Given the description of an element on the screen output the (x, y) to click on. 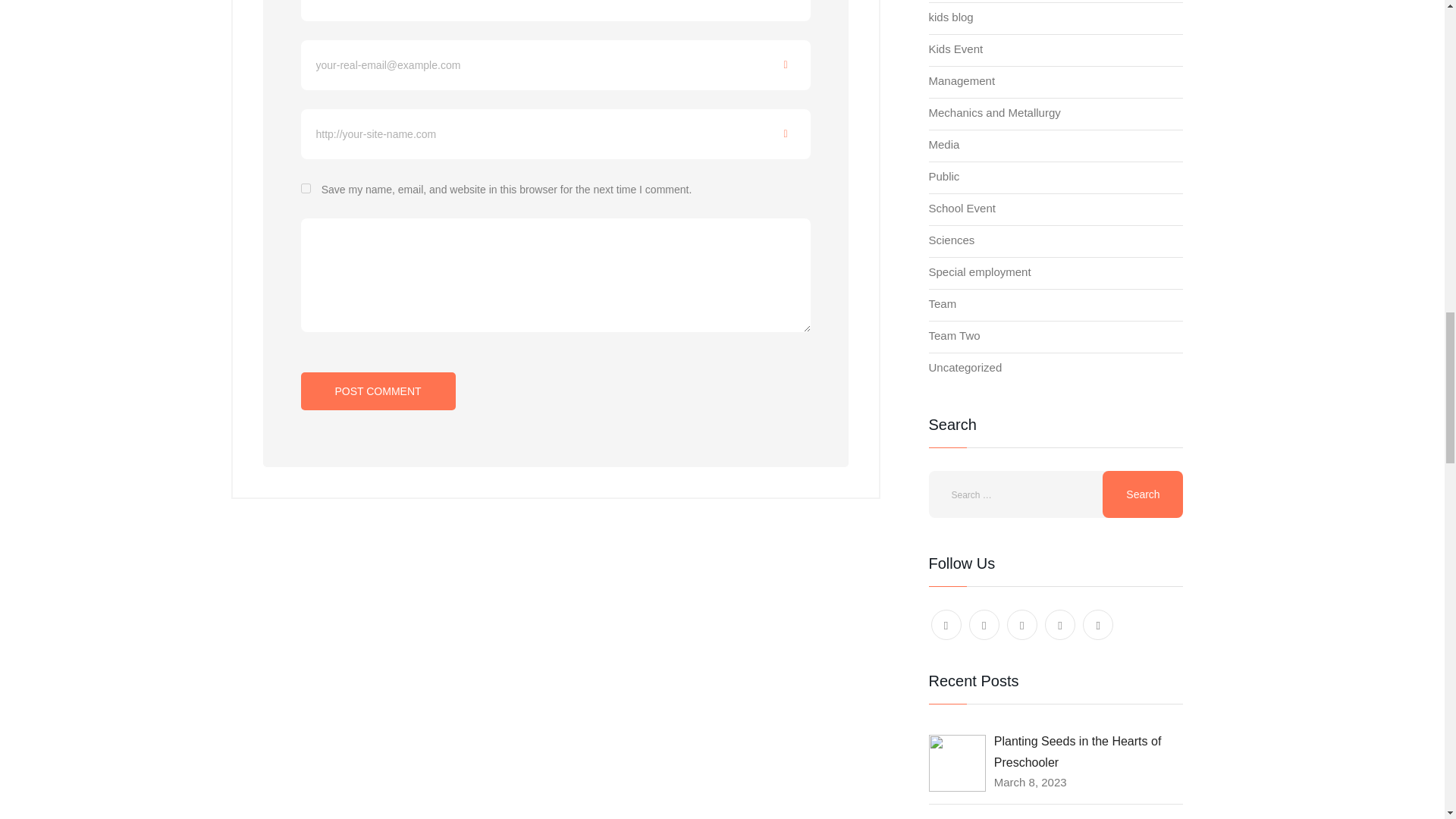
Search (1142, 493)
Search (1142, 493)
Post Comment (376, 391)
yes (304, 188)
